Given the description of an element on the screen output the (x, y) to click on. 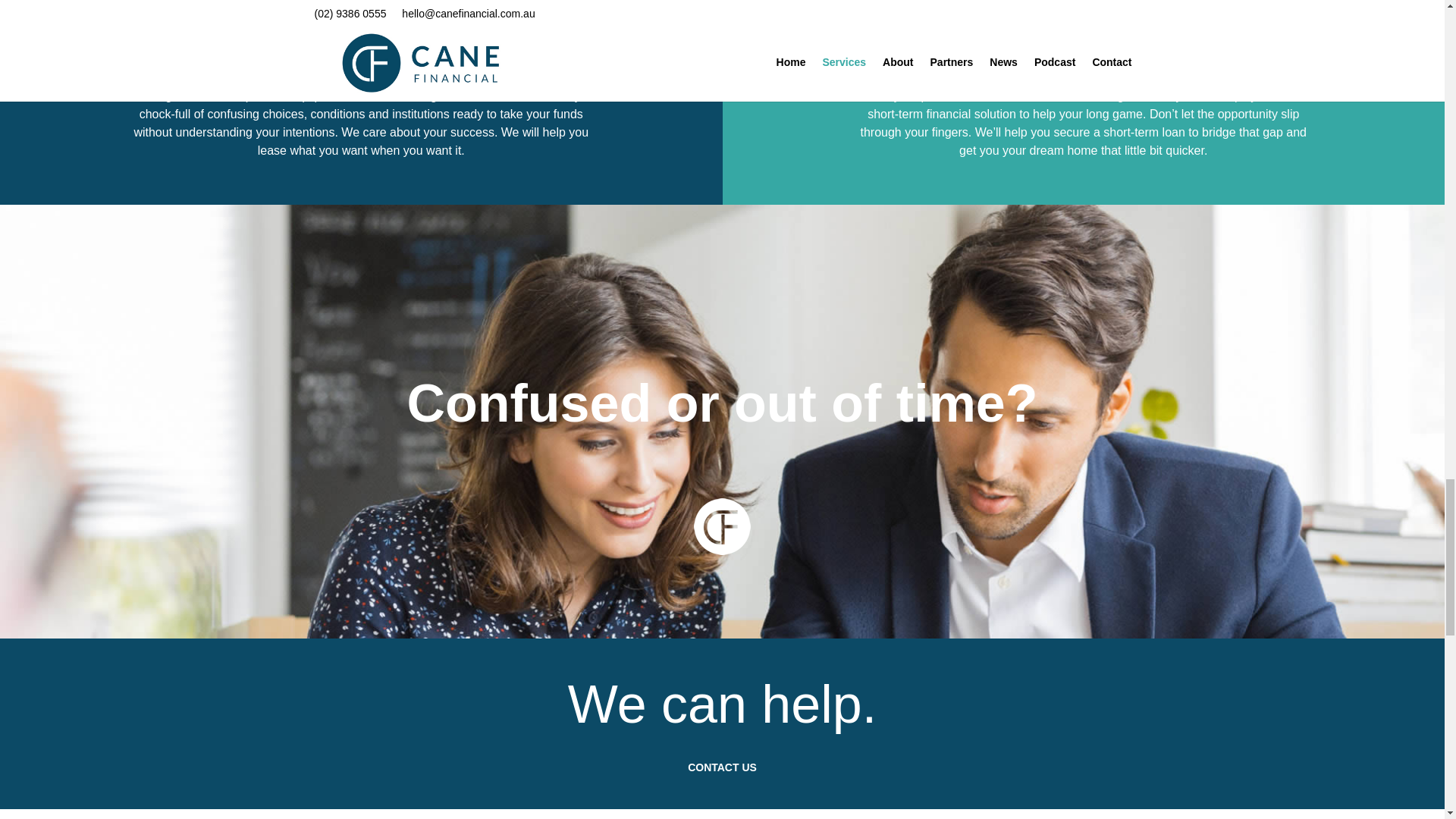
CONTACT US (722, 767)
Page 4 (722, 704)
